Given the description of an element on the screen output the (x, y) to click on. 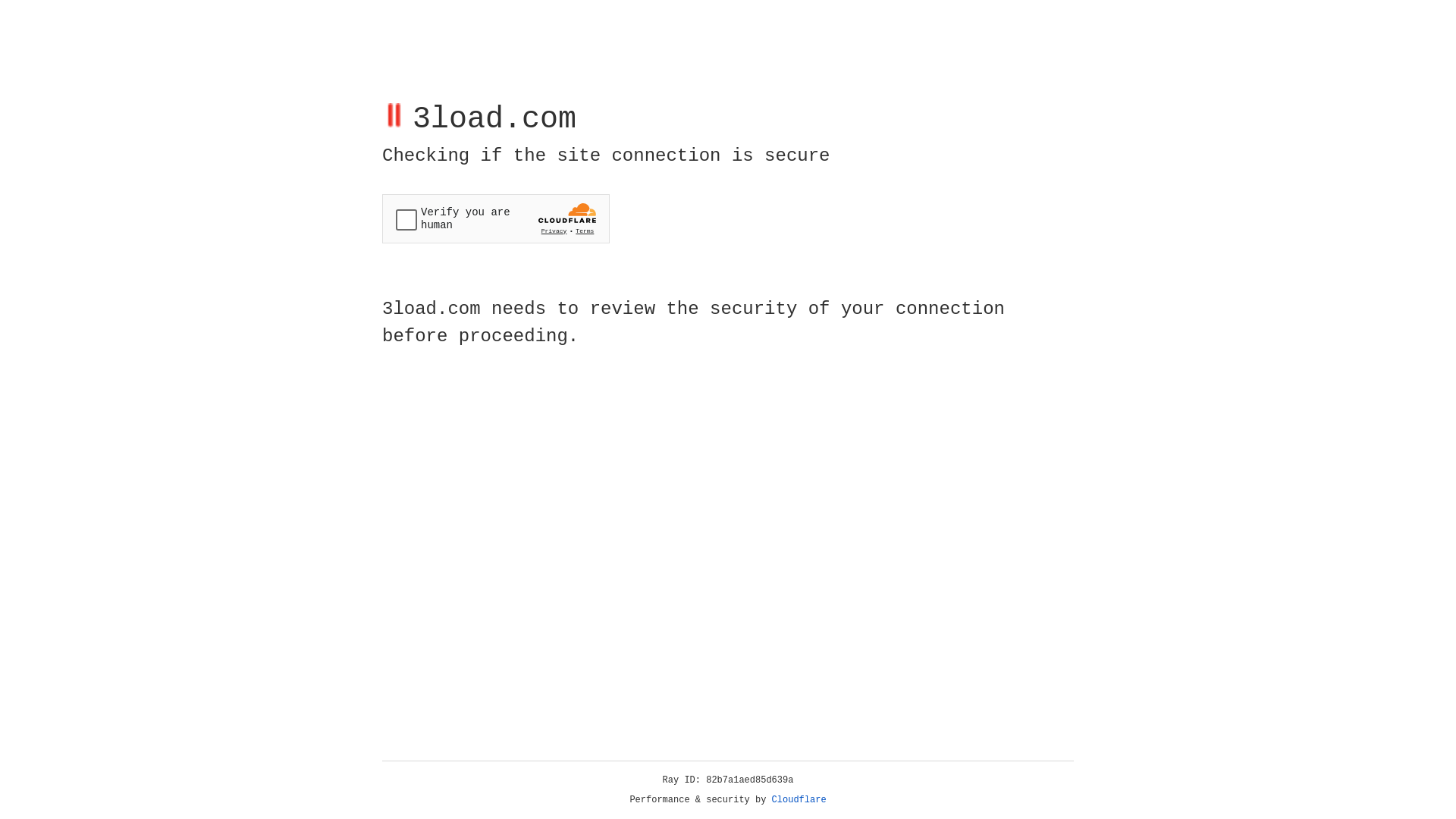
Cloudflare Element type: text (798, 799)
Widget containing a Cloudflare security challenge Element type: hover (495, 218)
